Given the description of an element on the screen output the (x, y) to click on. 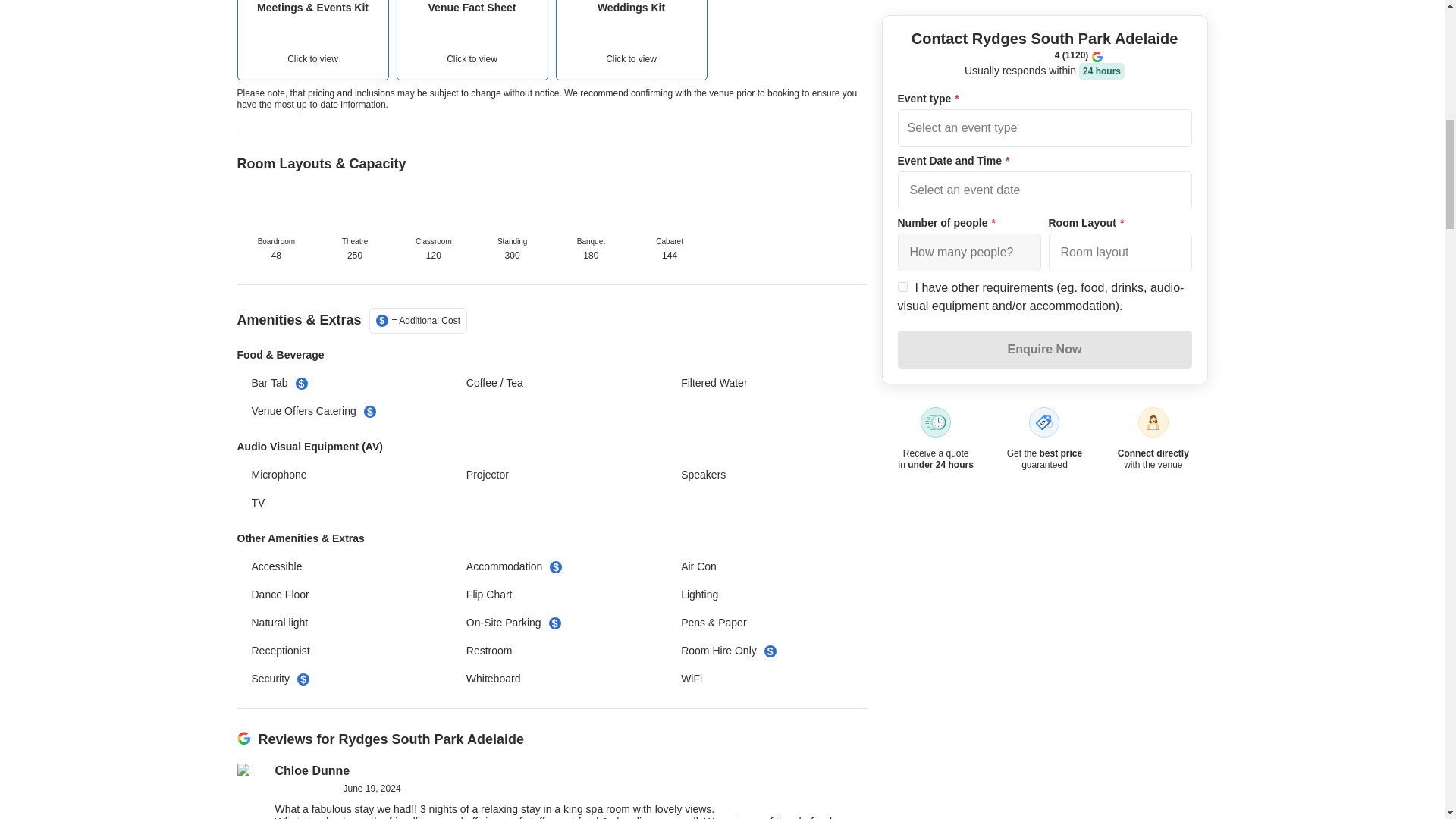
Select Theatre layout (354, 210)
Select Classroom layout (433, 210)
Select Boardroom layout (275, 210)
Select Banquet layout (589, 210)
Select Cabaret layout (630, 40)
Select Standing layout (471, 40)
